Given the description of an element on the screen output the (x, y) to click on. 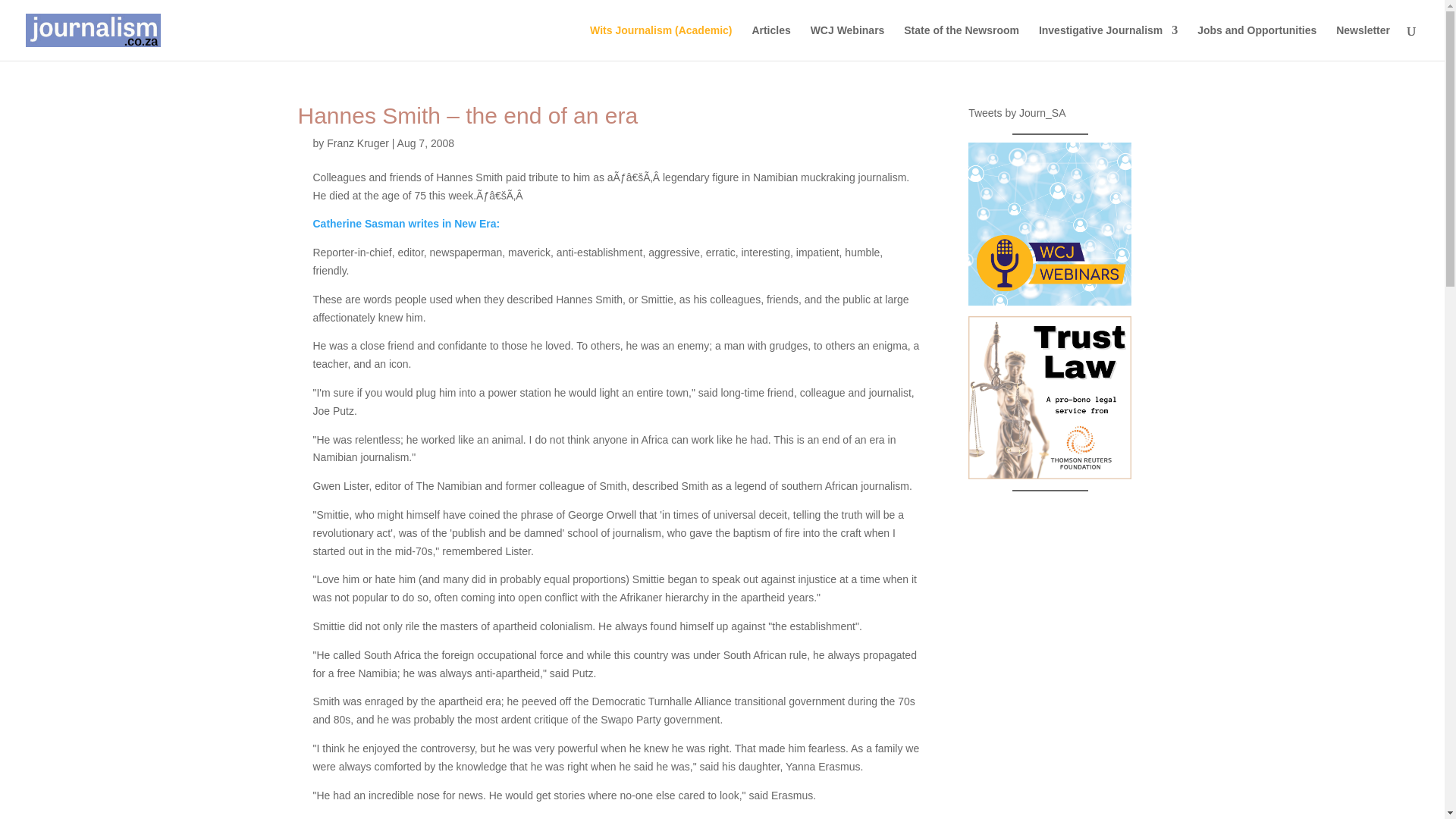
Newsletter (1363, 42)
WCJ Webinars (847, 42)
Jobs and Opportunities (1256, 42)
Catherine Sasman writes in New Era: (406, 223)
Franz Kruger (357, 143)
State of the Newsroom (961, 42)
Investigative Journalism (1108, 42)
Posts by Franz Kruger (357, 143)
Articles (770, 42)
